Given the description of an element on the screen output the (x, y) to click on. 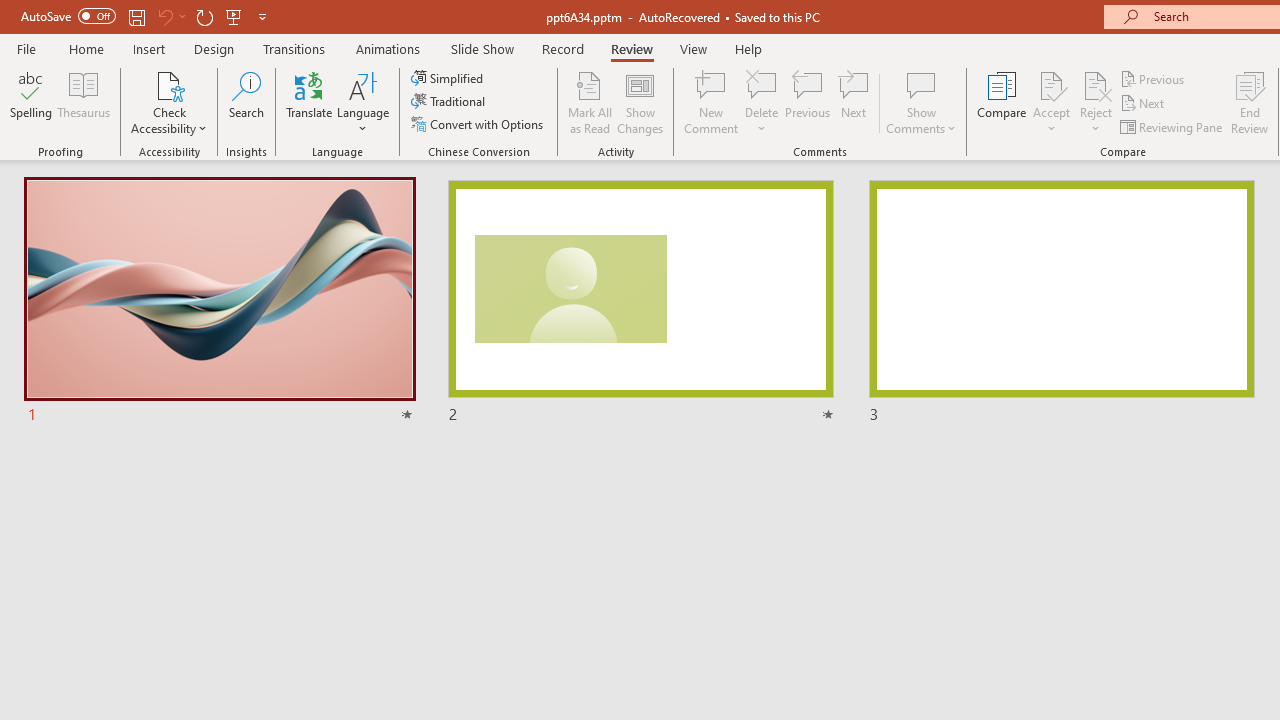
End Review (1249, 102)
Previous (1153, 78)
AutoSave (68, 16)
Transitions (294, 48)
Quick Access Toolbar (145, 16)
Language (363, 102)
Delete (762, 102)
Show Comments (921, 84)
Show Changes (639, 102)
Review (631, 48)
Reject (1096, 102)
Accept Change (1051, 84)
